Given the description of an element on the screen output the (x, y) to click on. 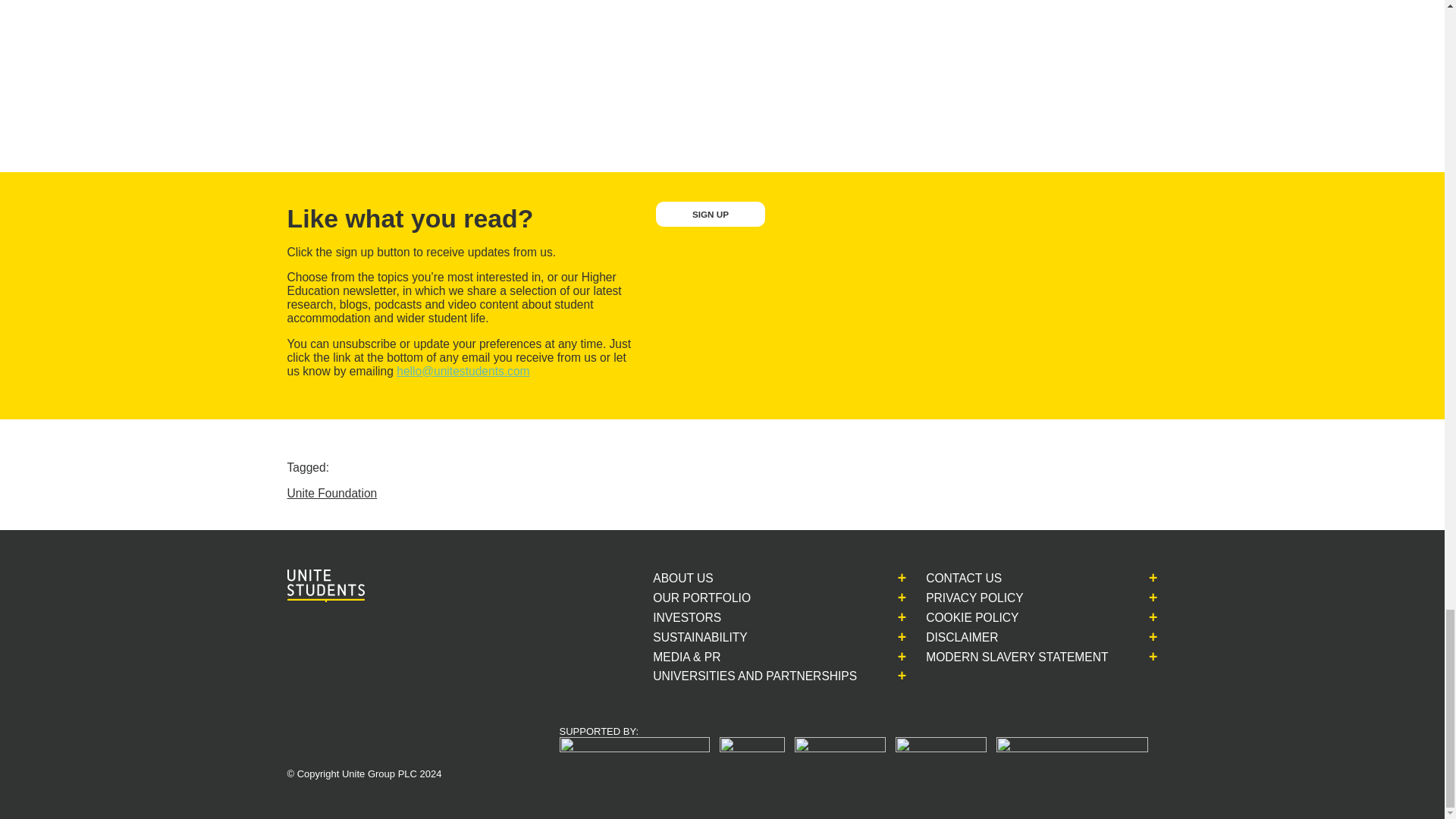
Sustainability (724, 636)
Investors (711, 617)
Contact us (988, 577)
Modern Slavery Statement (1041, 656)
Our portfolio (725, 597)
Disclaimer (986, 636)
Cookie policy (996, 617)
Universities and partnerships (778, 675)
S03E03: Unite Foundation takeover (563, 62)
About us (706, 577)
Privacy policy (999, 597)
